Given the description of an element on the screen output the (x, y) to click on. 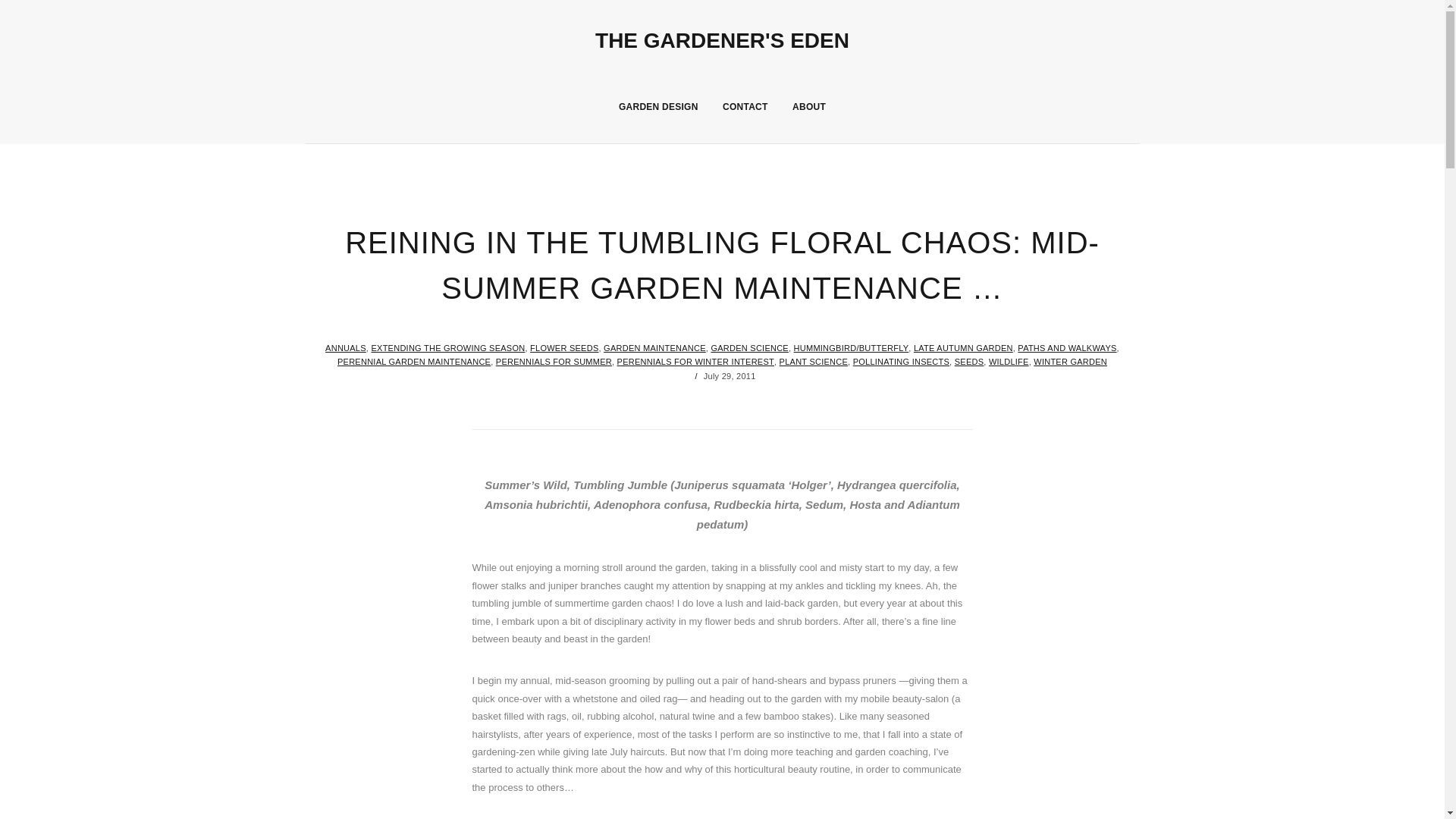
WINTER GARDEN (1069, 361)
GARDEN DESIGN (658, 106)
GARDEN MAINTENANCE (655, 347)
THE GARDENER'S EDEN (721, 40)
CONTACT (745, 106)
WILDLIFE (1008, 361)
GARDEN SCIENCE (749, 347)
PATHS AND WALKWAYS (1066, 347)
ANNUALS (345, 347)
SEEDS (969, 361)
